Given the description of an element on the screen output the (x, y) to click on. 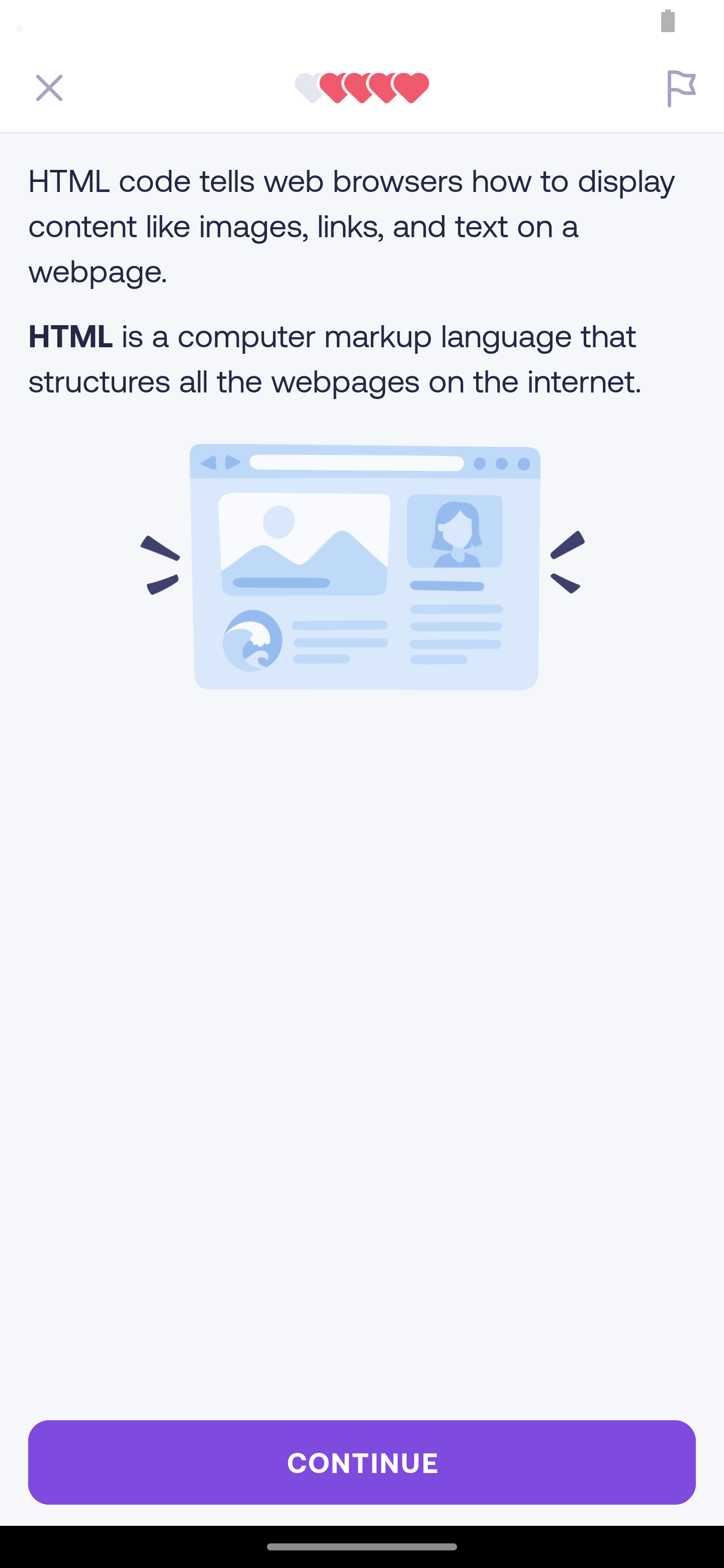
CONTINUE (361, 1462)
